Given the description of an element on the screen output the (x, y) to click on. 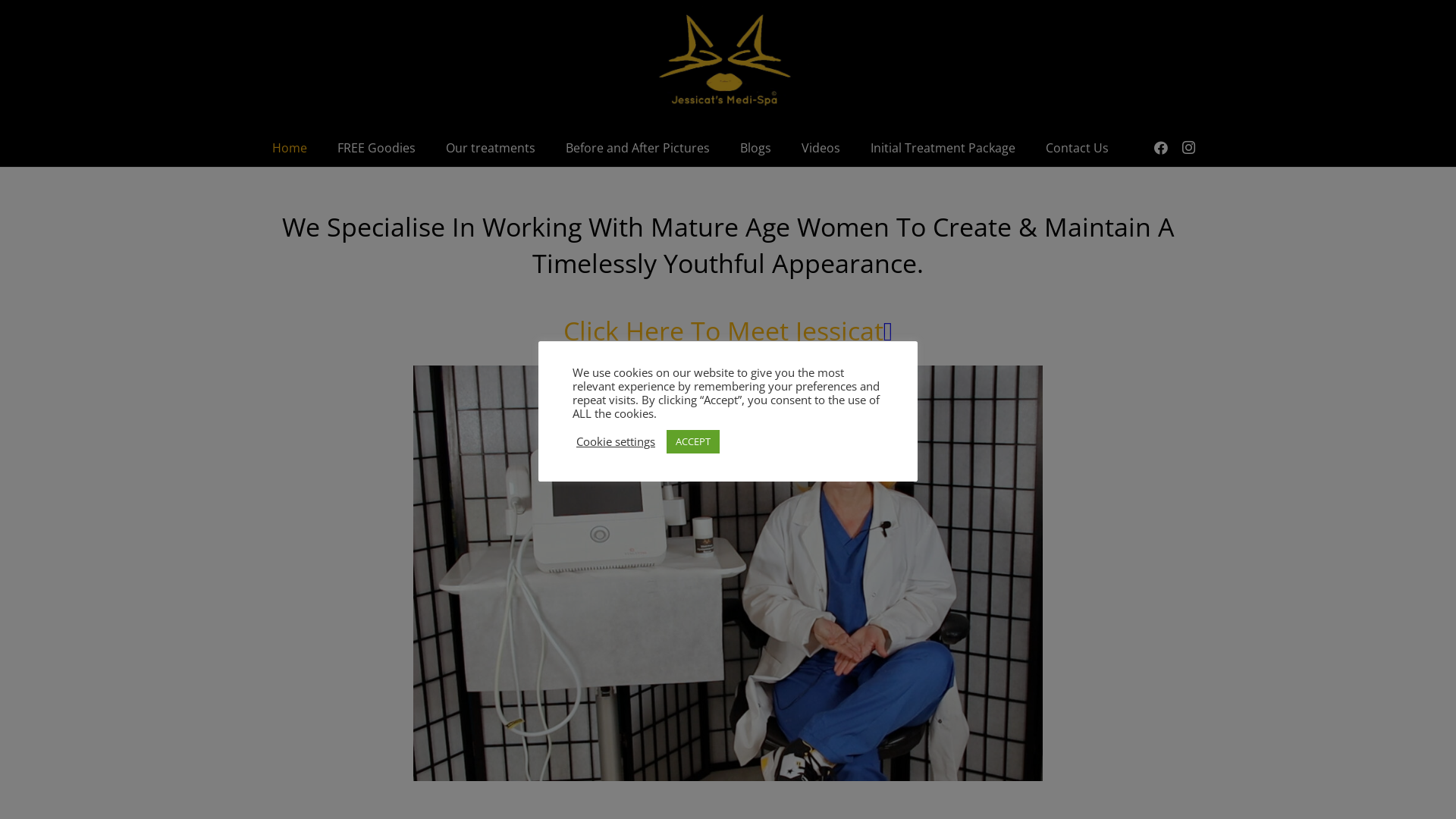
Before and After Pictures Element type: text (637, 147)
Initial Treatment Package Element type: text (942, 147)
ACCEPT Element type: text (692, 440)
Our treatments Element type: text (490, 147)
Cookie settings Element type: text (615, 441)
Facebook Element type: hover (1160, 147)
Click Here To Meet Jessicat Element type: text (723, 330)
FREE Goodies Element type: text (376, 147)
Instagram Element type: hover (1187, 147)
Videos Element type: text (820, 147)
Contact Us Element type: text (1076, 147)
Home Element type: text (289, 147)
Blogs Element type: text (755, 147)
